Given the description of an element on the screen output the (x, y) to click on. 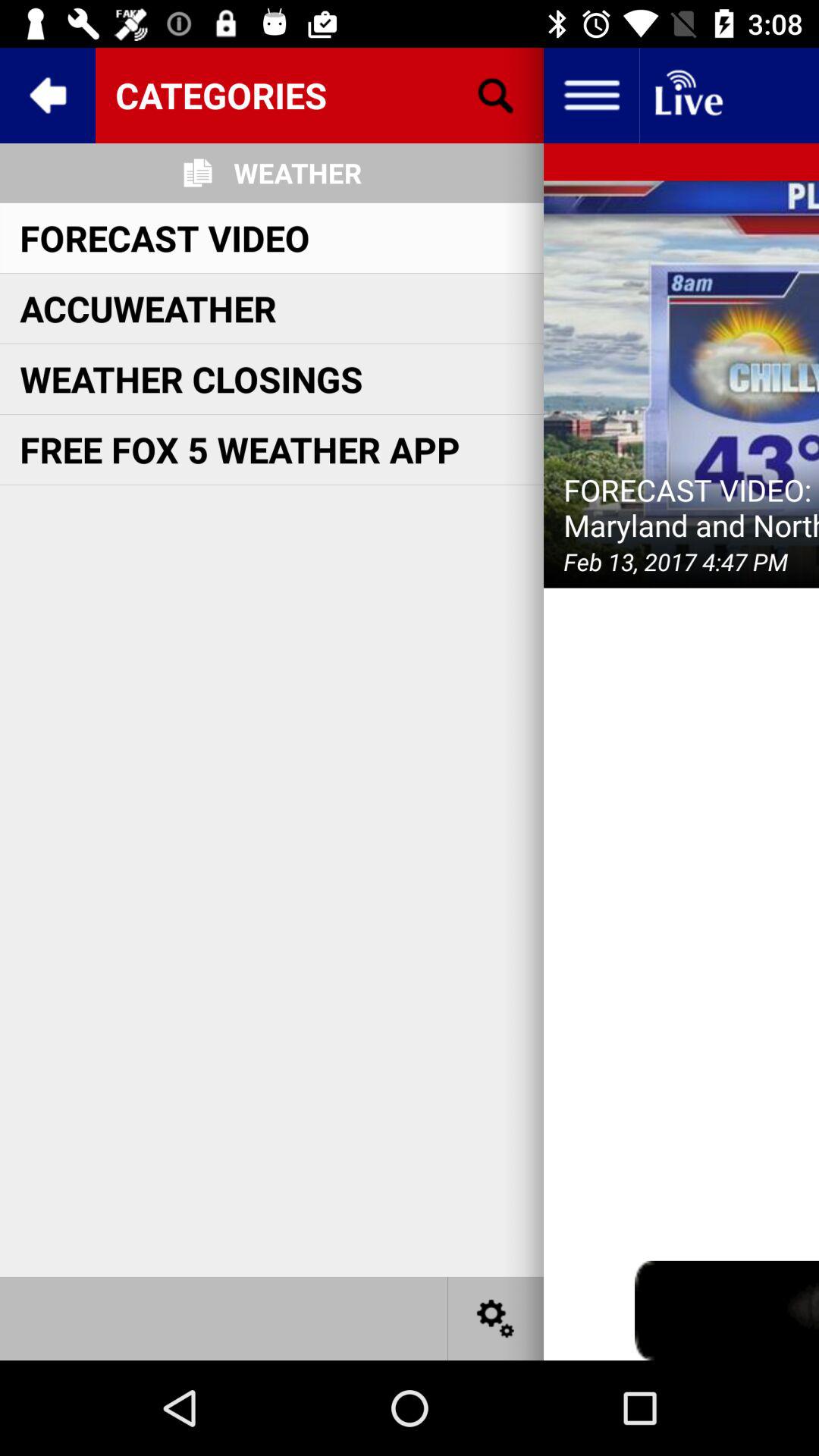
launch item above free fox 5 item (190, 378)
